Given the description of an element on the screen output the (x, y) to click on. 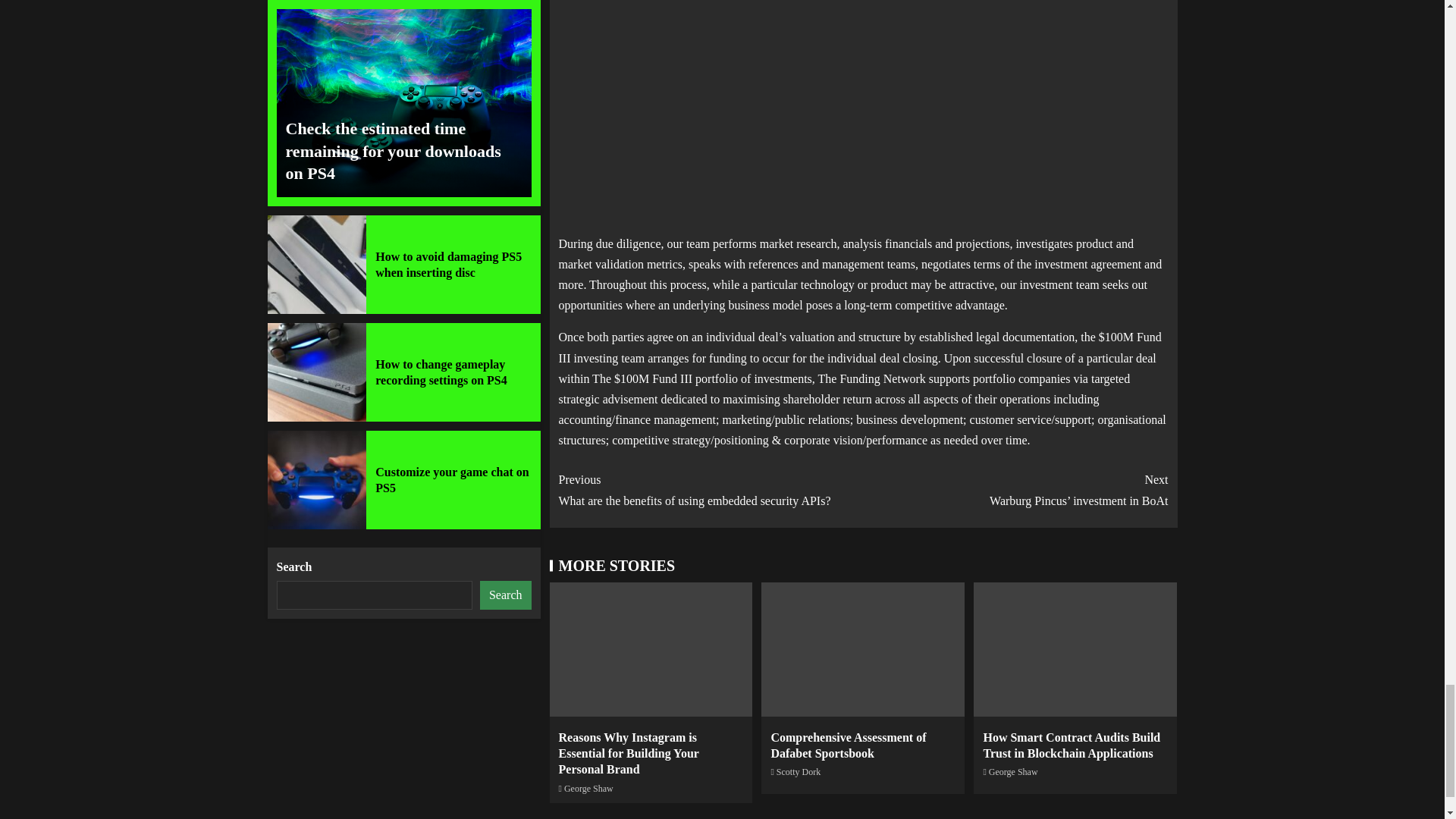
Comprehensive Assessment of Dafabet Sportsbook (848, 745)
George Shaw (1013, 771)
Scotty Dork (798, 771)
George Shaw (588, 787)
